Given the description of an element on the screen output the (x, y) to click on. 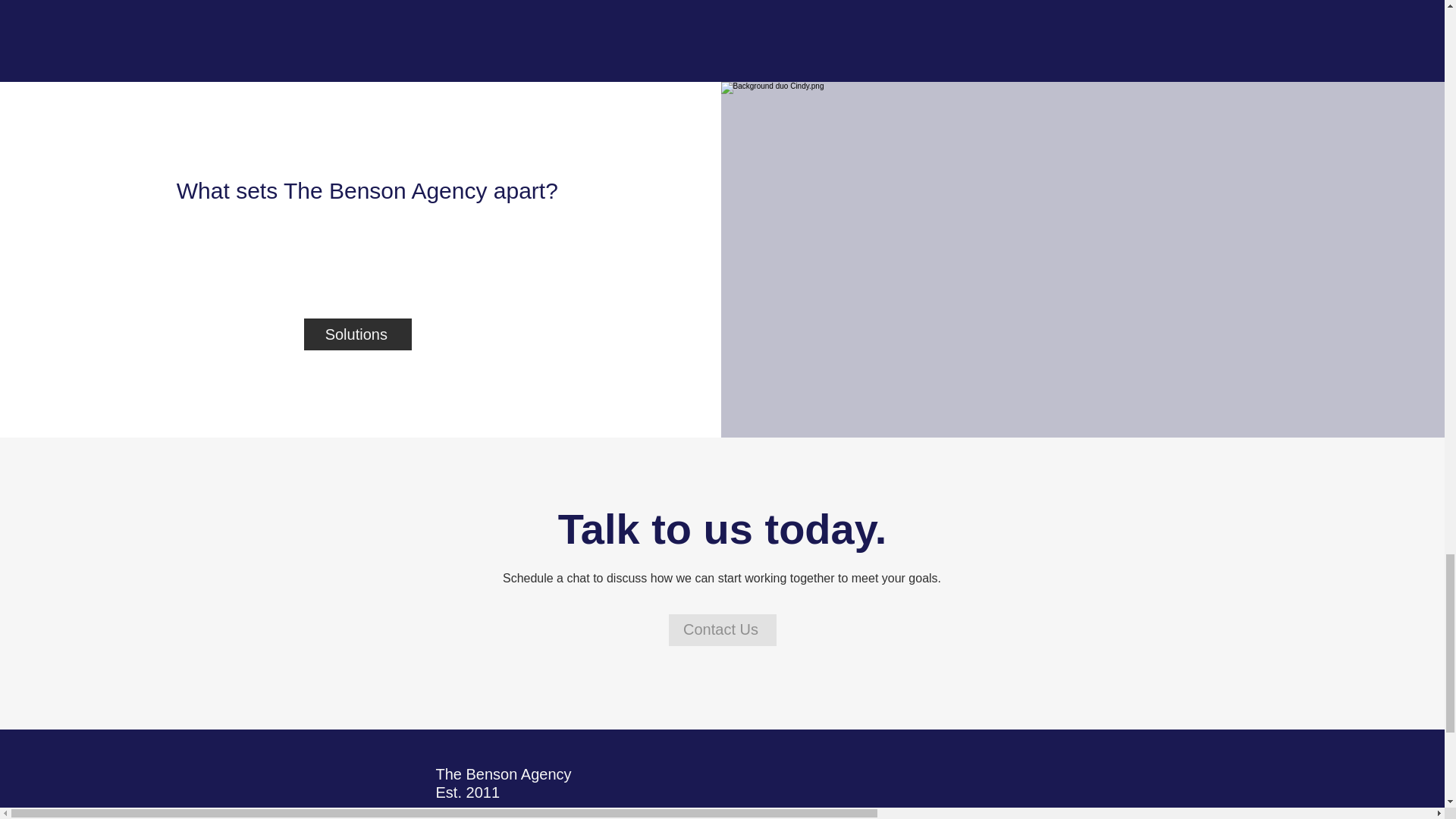
Contact Us (722, 630)
Solutions (358, 334)
